Given the description of an element on the screen output the (x, y) to click on. 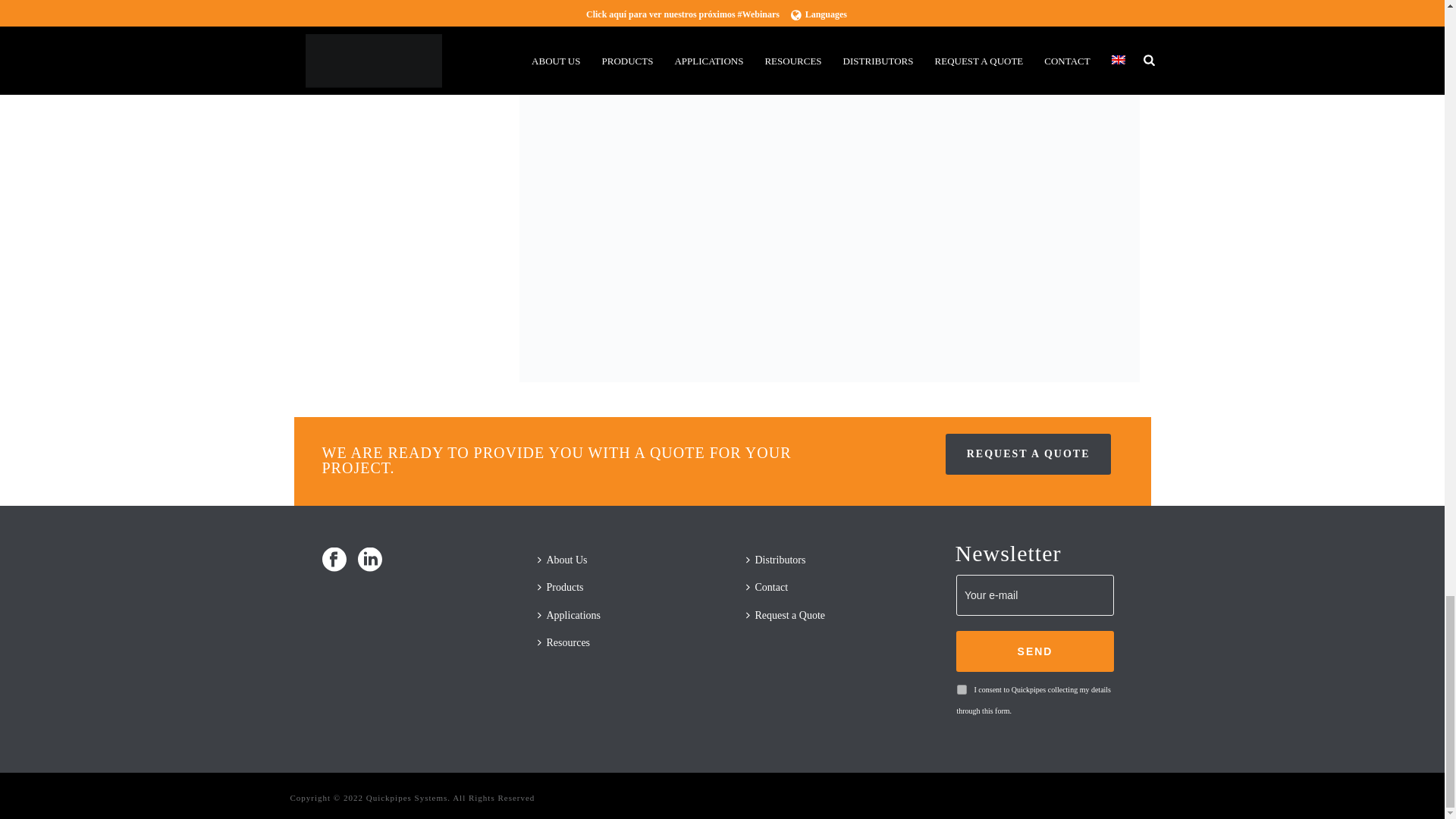
REQUEST A QUOTE (1028, 454)
Follow Us on linkedin (369, 560)
Follow Us on facebook (333, 560)
